Given the description of an element on the screen output the (x, y) to click on. 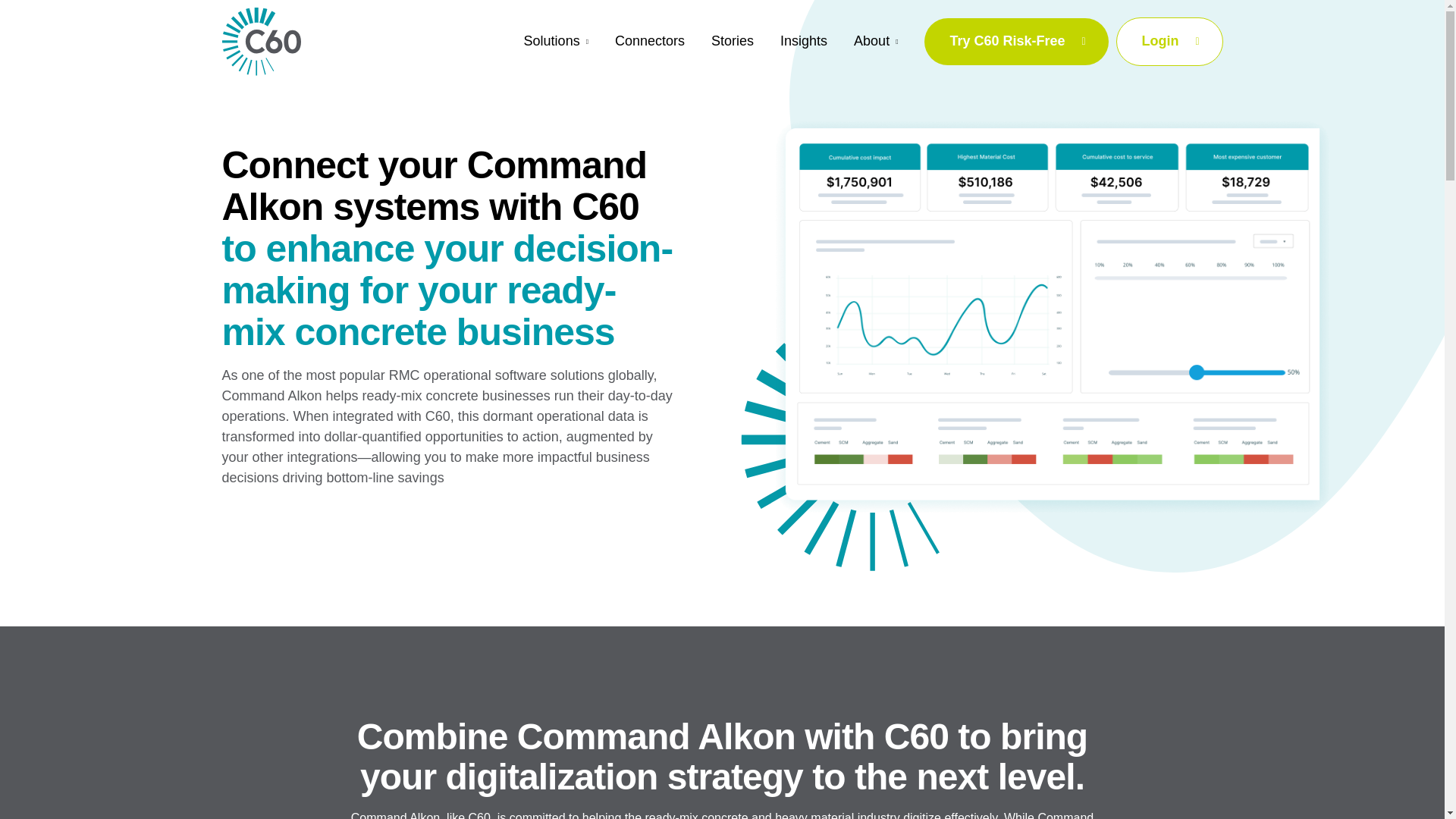
Stories (732, 41)
Solutions (556, 41)
Insights (803, 41)
Connectors (649, 41)
Login (1169, 41)
About (875, 41)
Try C60 Risk-Free (1016, 42)
